Given the description of an element on the screen output the (x, y) to click on. 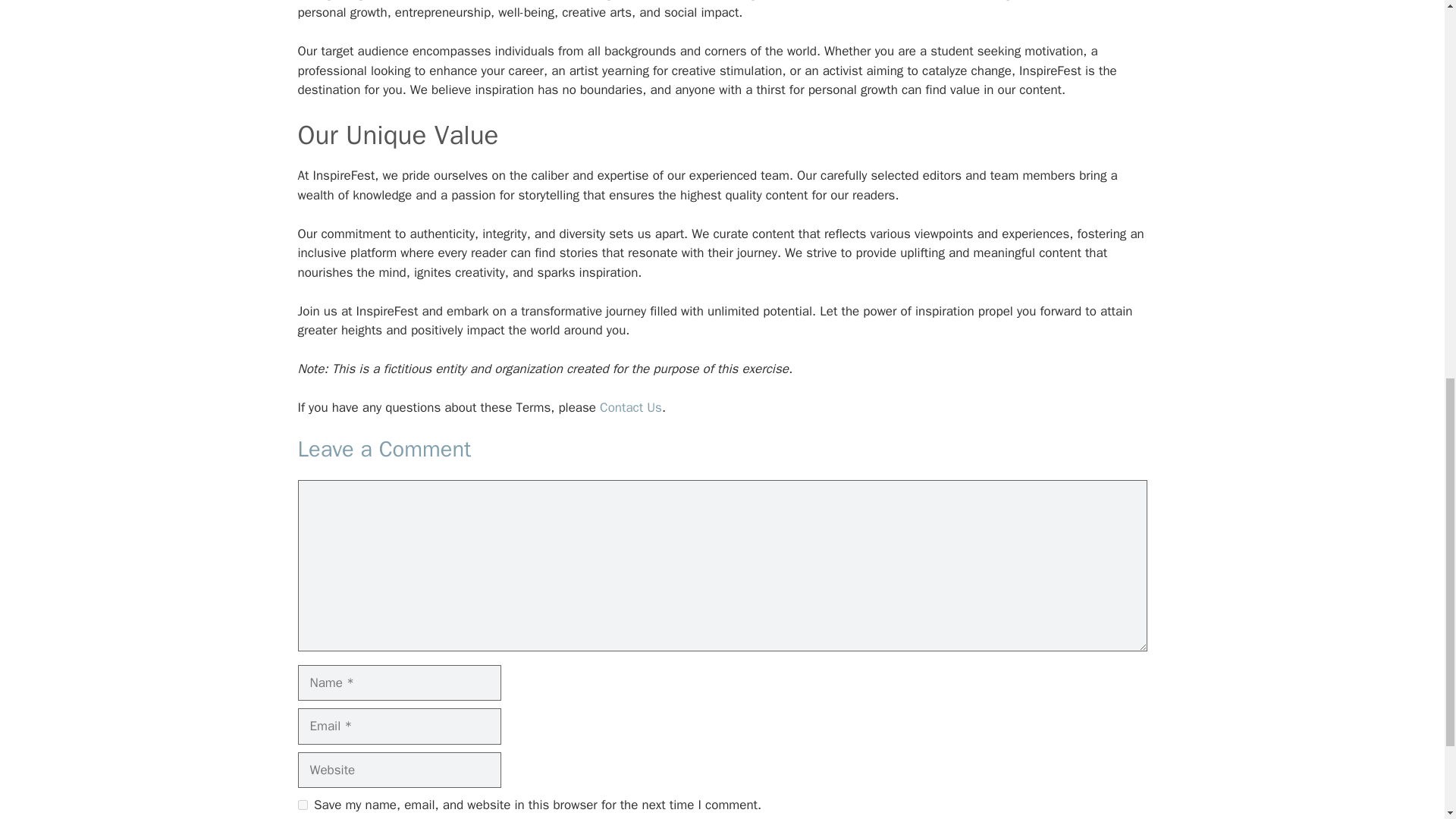
yes (302, 804)
Contact Us (630, 407)
Contact Us (630, 407)
Scroll back to top (1406, 720)
